Given the description of an element on the screen output the (x, y) to click on. 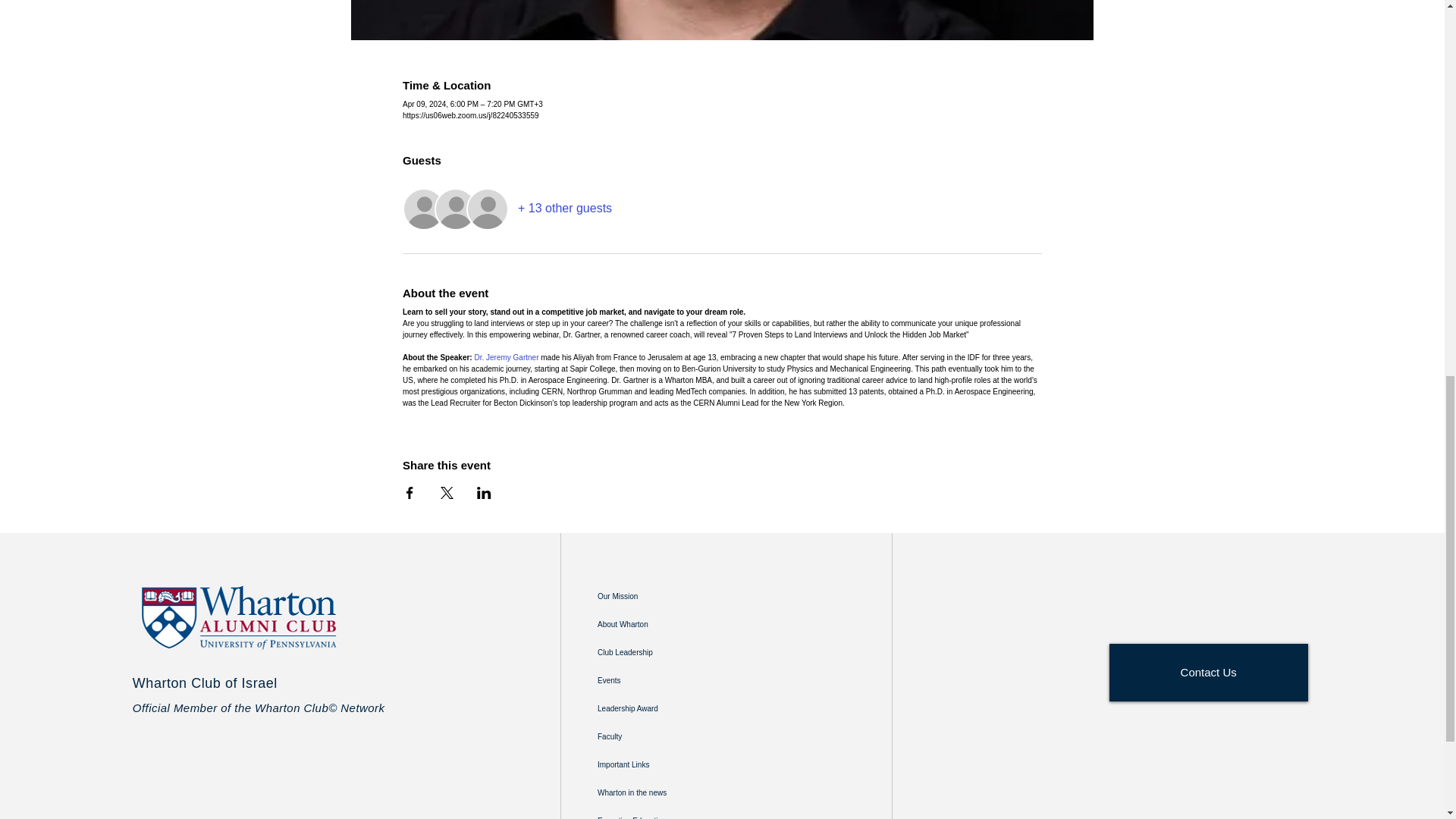
Important Links (669, 764)
Club Leadership (669, 652)
Contact Us (1208, 671)
Wharton in the news (669, 791)
Dr. Jeremy Gartner (506, 356)
About Wharton (669, 623)
Events (669, 679)
Faculty (669, 735)
Our Mission (669, 596)
Leadership Award (669, 708)
